Given the description of an element on the screen output the (x, y) to click on. 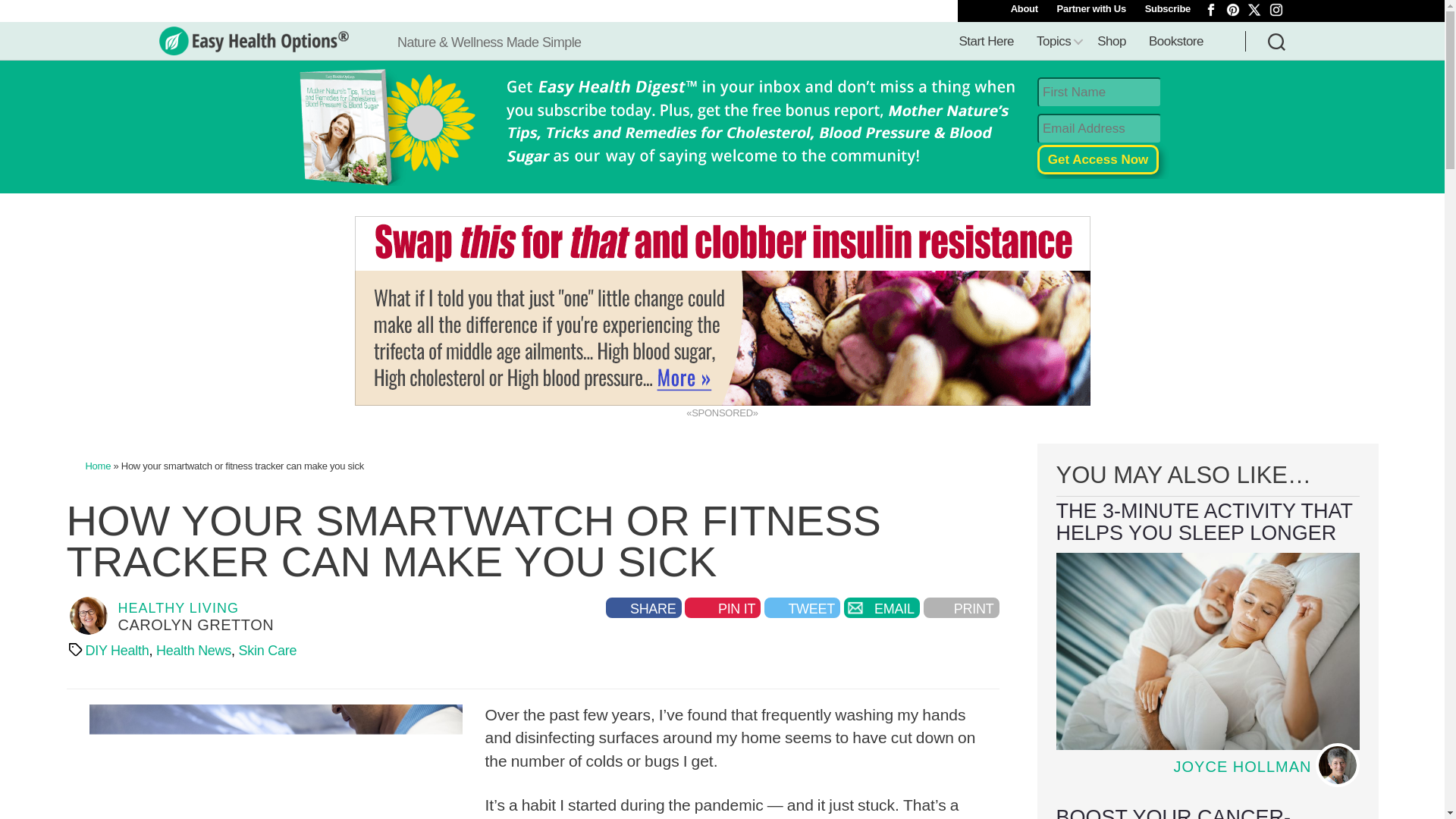
Shop (1111, 41)
Bookstore (1175, 41)
Topics (1055, 41)
About (1024, 9)
Start Here (986, 41)
Partner with Us (1091, 9)
Subscribe (1167, 9)
